Given the description of an element on the screen output the (x, y) to click on. 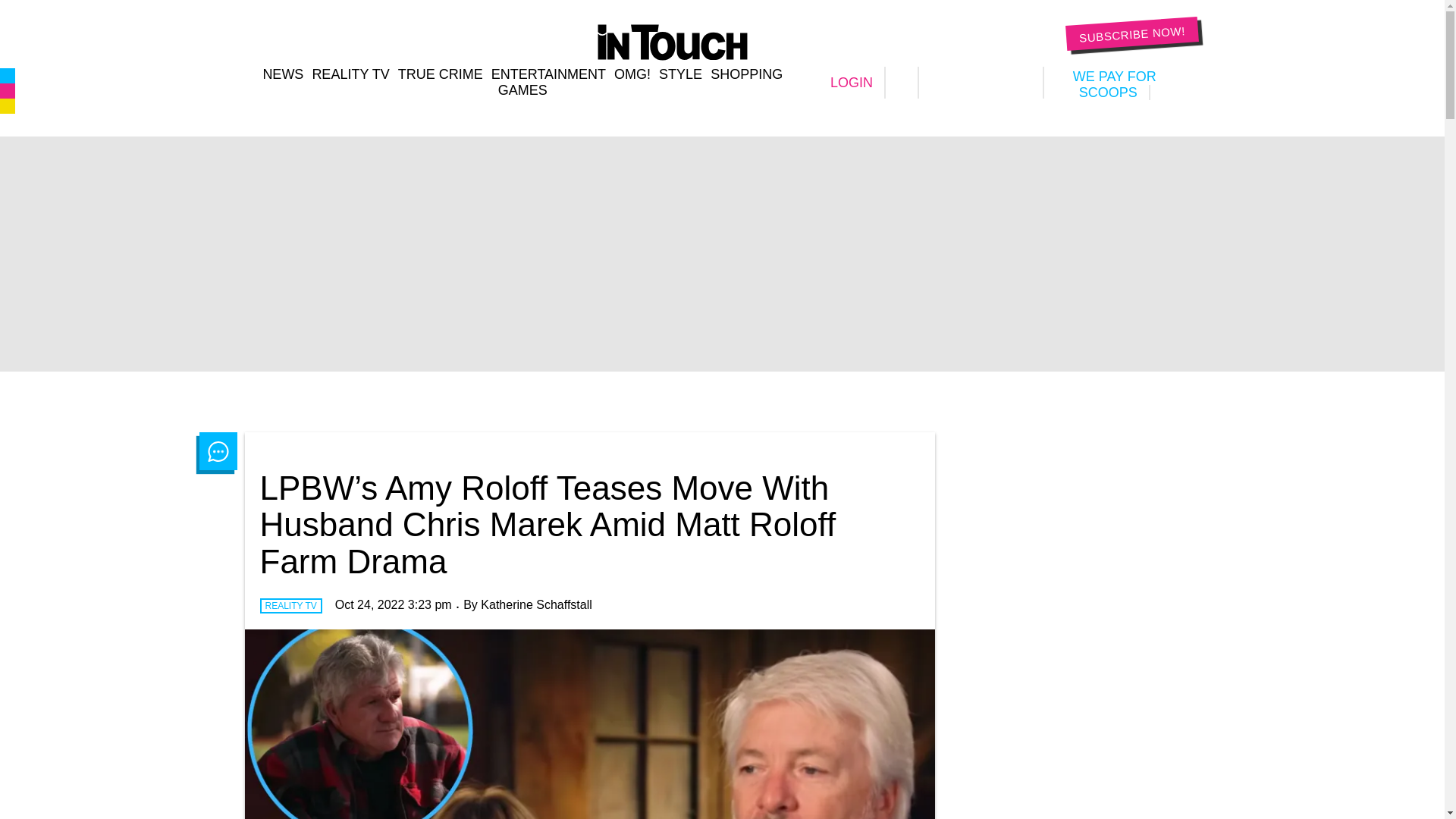
REALITY TV (349, 73)
Posts by Katherine Schaffstall (535, 604)
NEWS (282, 73)
TRUE CRIME (440, 73)
